Given the description of an element on the screen output the (x, y) to click on. 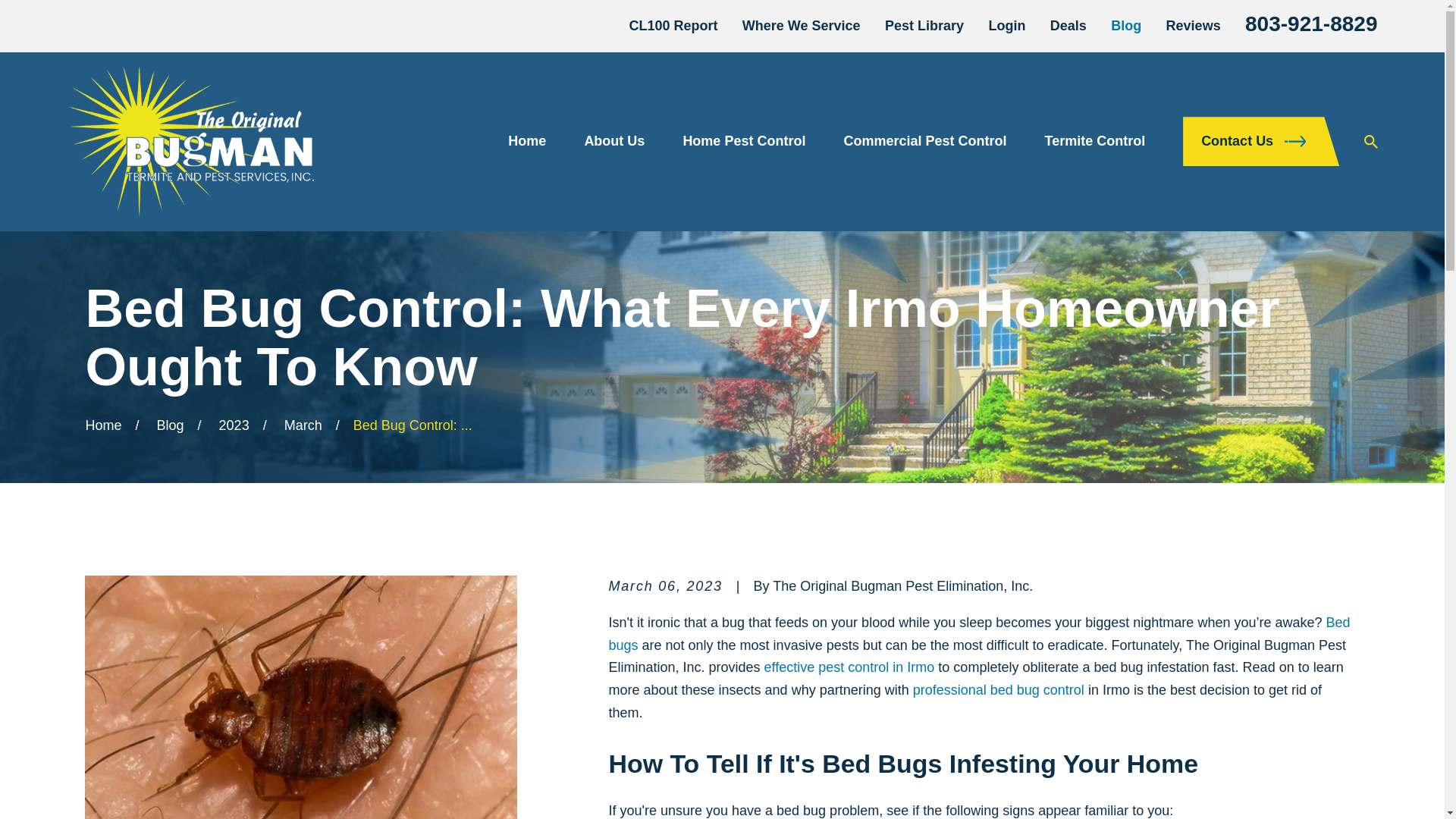
Go Home (102, 425)
Commercial Pest Control (924, 140)
About Us (614, 140)
Home Pest Control (743, 140)
Login (1006, 25)
CL100 Report (672, 25)
Home (190, 141)
Blog (1125, 25)
Reviews (1193, 25)
Where We Service (801, 25)
